Given the description of an element on the screen output the (x, y) to click on. 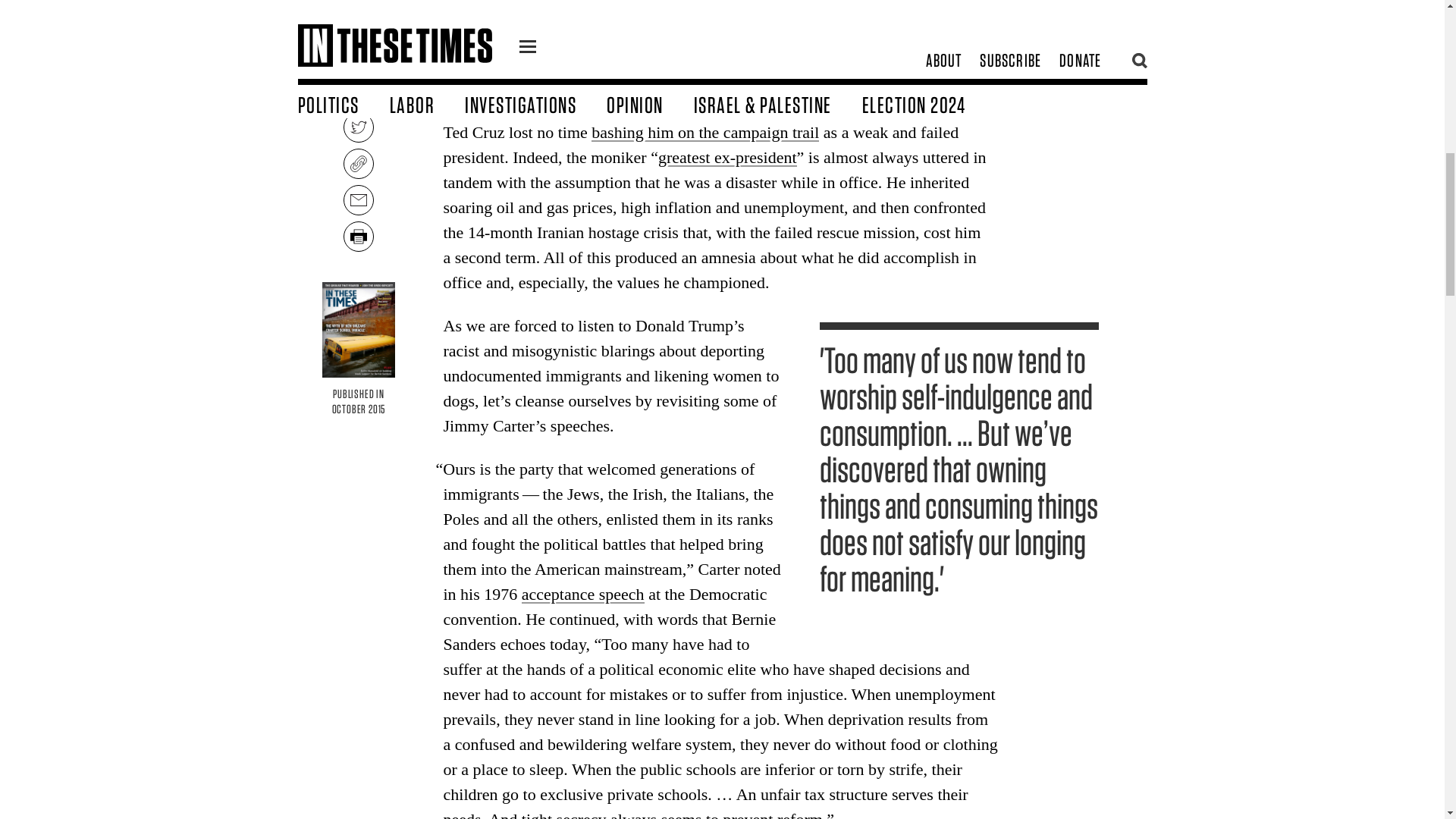
bashing him on the campaign trail (704, 131)
greatest ex-president (727, 157)
acceptance speech (583, 593)
press conference (689, 69)
